Given the description of an element on the screen output the (x, y) to click on. 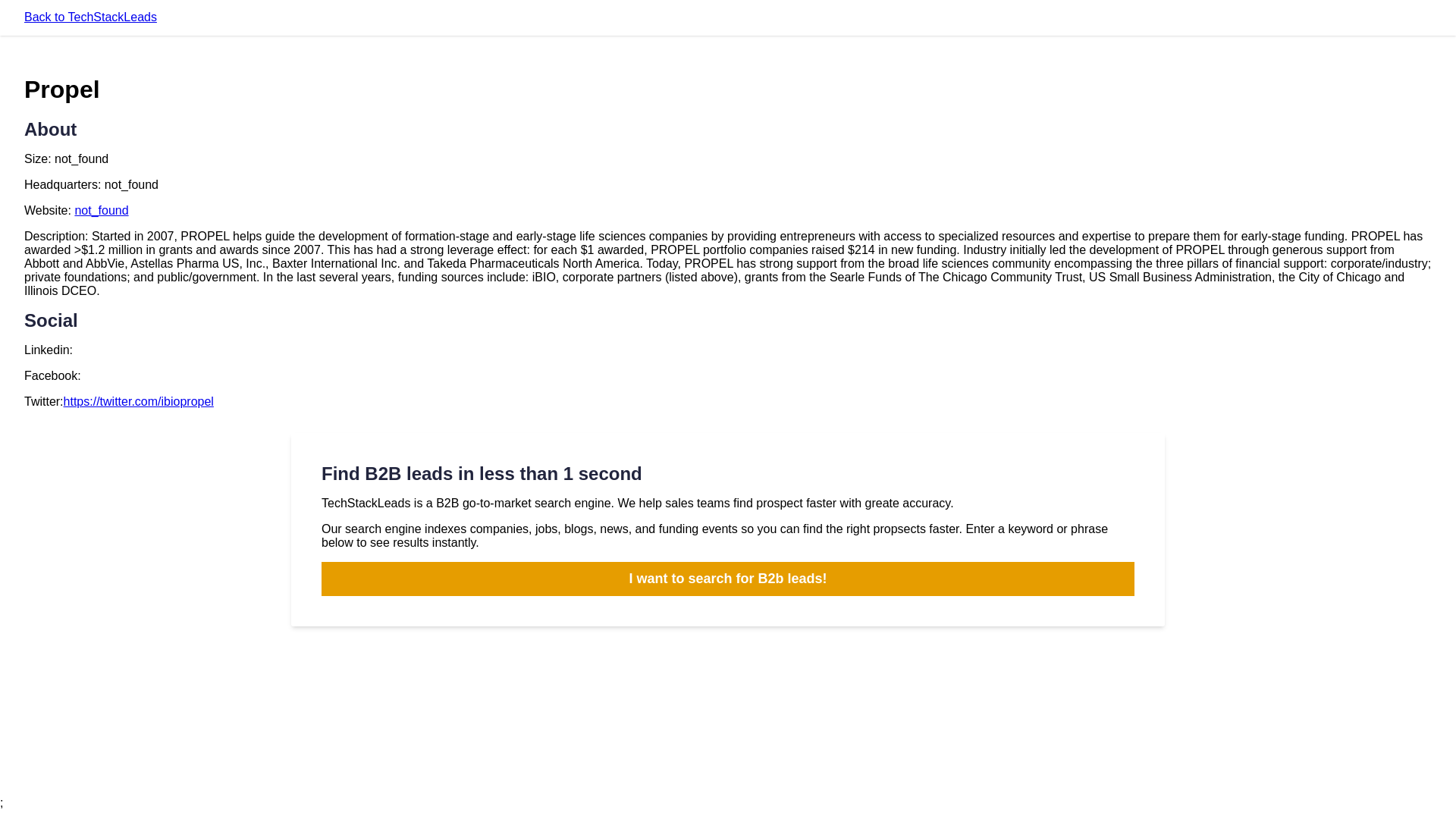
I want to search for B2b leads! (727, 578)
Back to TechStackLeads (90, 16)
I want to search for B2b leads! (727, 578)
